Given the description of an element on the screen output the (x, y) to click on. 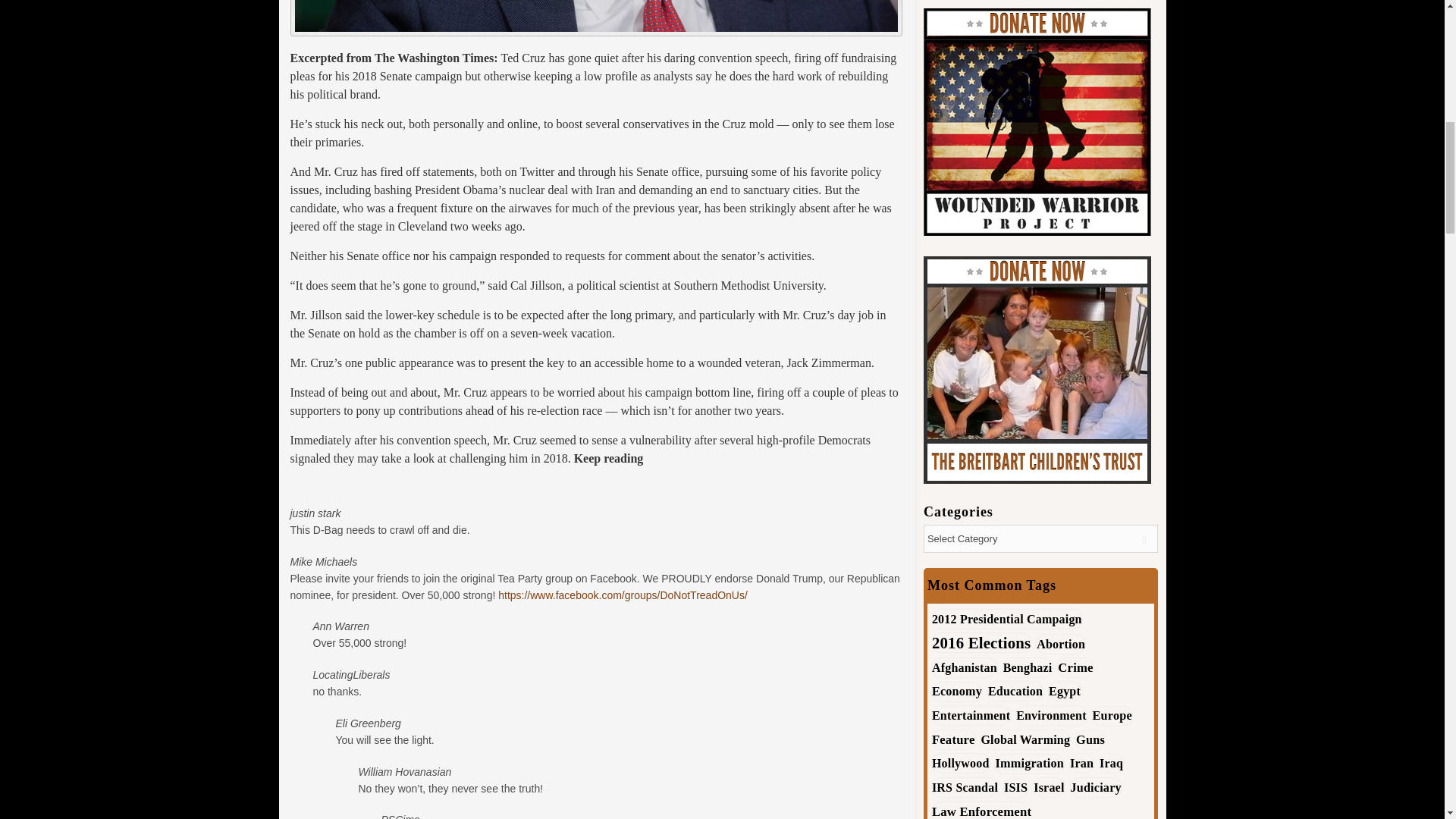
Law Enforcement (981, 810)
Environment (1050, 715)
Afghanistan (964, 667)
Immigration (1029, 763)
9 topics (964, 667)
Europe (1112, 715)
Global Warming (1024, 739)
Education (1015, 690)
8 topics (1060, 643)
Abortion (1060, 643)
